Given the description of an element on the screen output the (x, y) to click on. 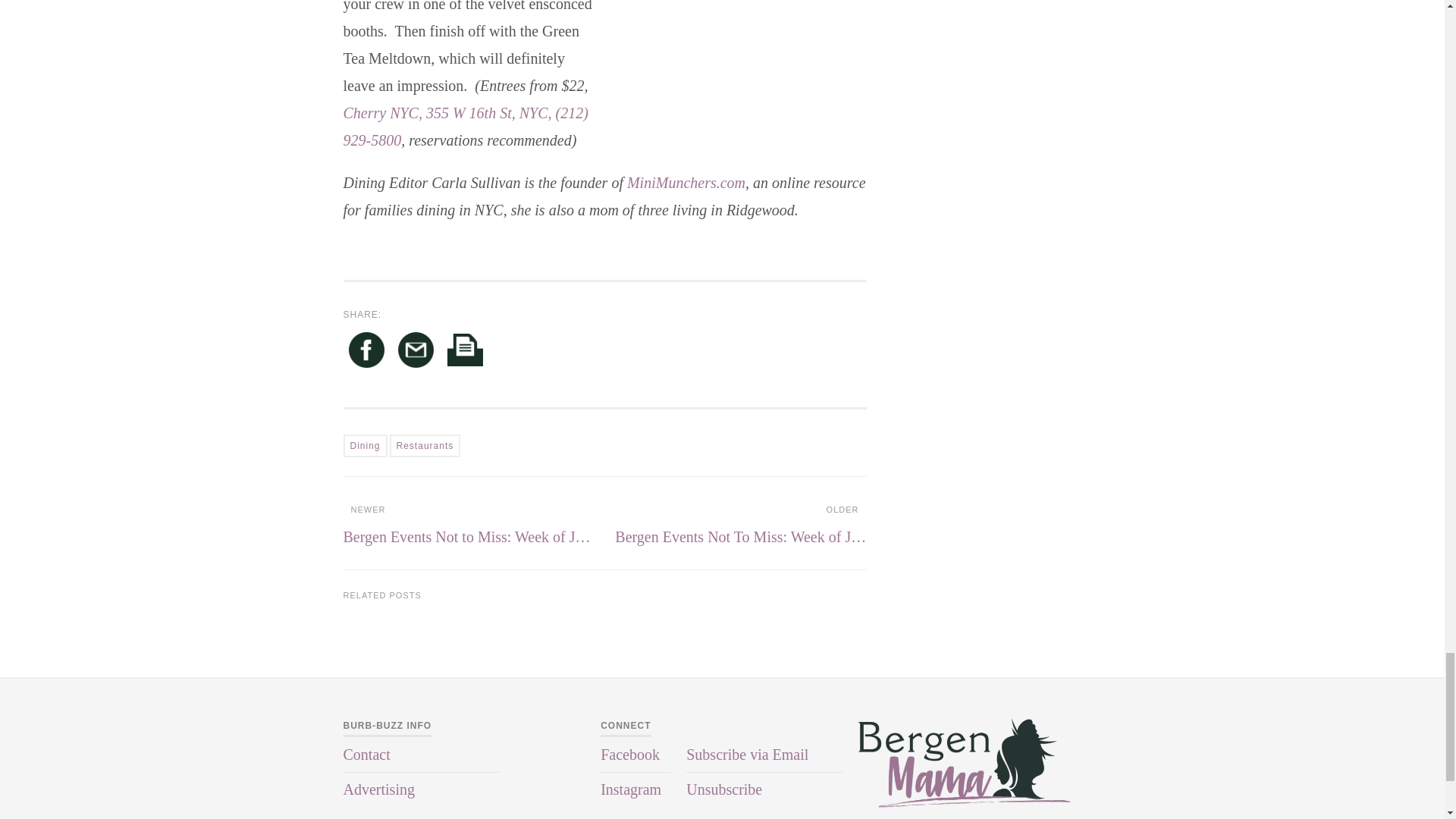
Facebook (365, 352)
Print (464, 352)
Email (416, 352)
